Given the description of an element on the screen output the (x, y) to click on. 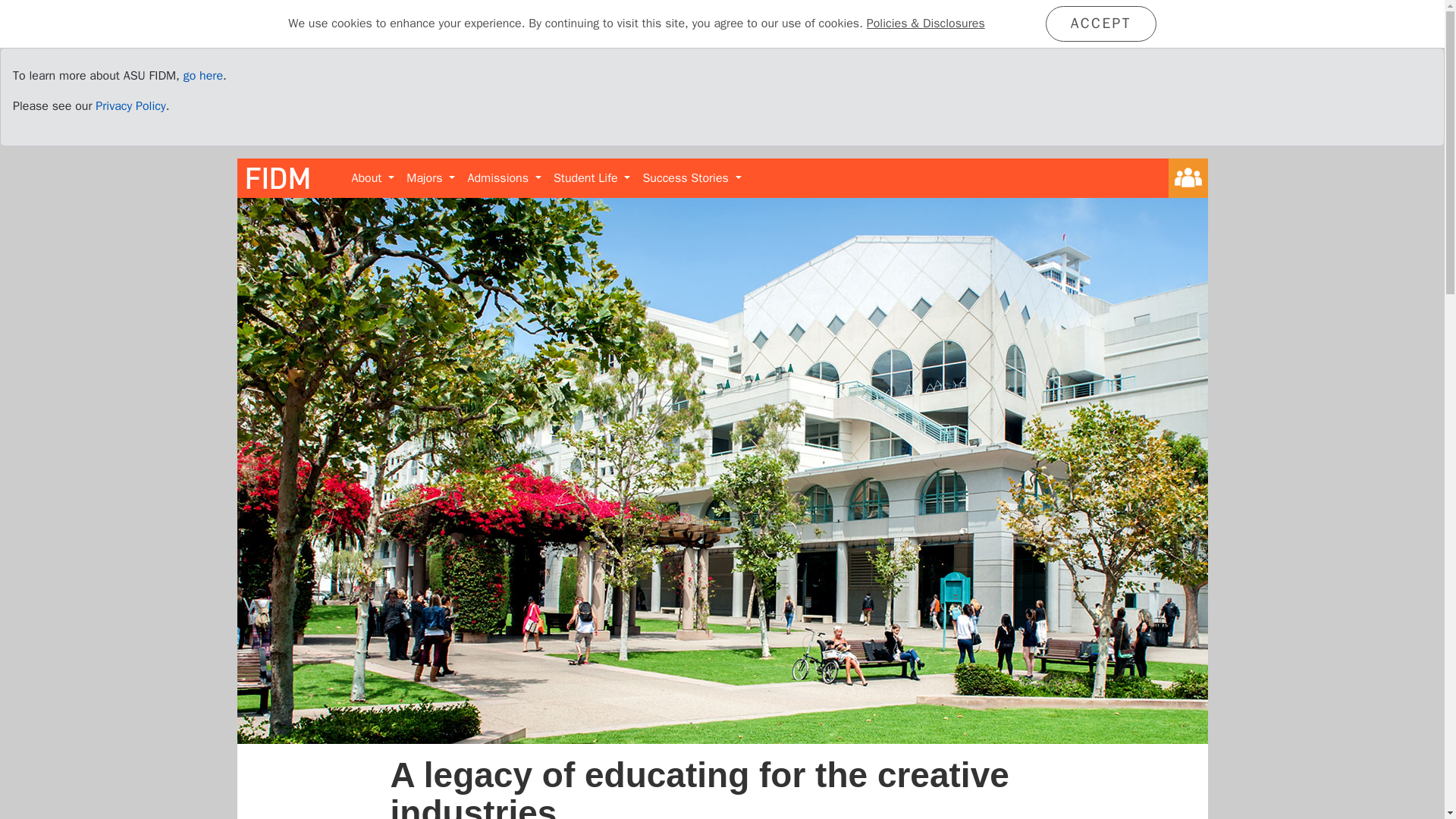
Please select your group (1187, 178)
About (373, 177)
Admissions (504, 177)
ASU FIDM Information (202, 75)
ACCEPT (1100, 23)
FIDM Privacy Policy (130, 105)
Privacy Policy (130, 105)
go here (202, 75)
Majors (430, 177)
